Given the description of an element on the screen output the (x, y) to click on. 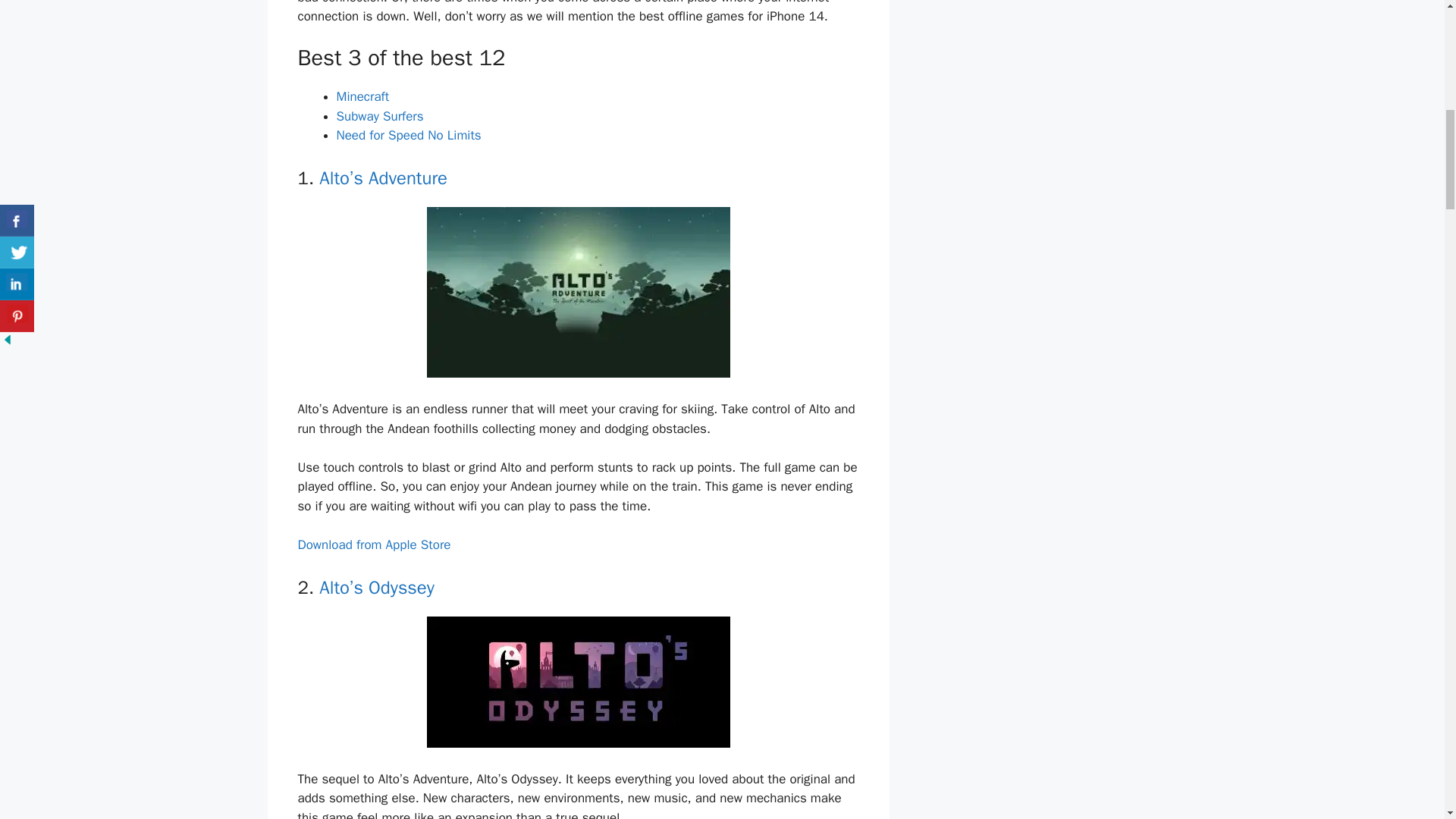
Download from Apple Store (373, 544)
Minecraft (363, 96)
Subway Surfers (379, 116)
Need for Speed No Limits (408, 135)
